Given the description of an element on the screen output the (x, y) to click on. 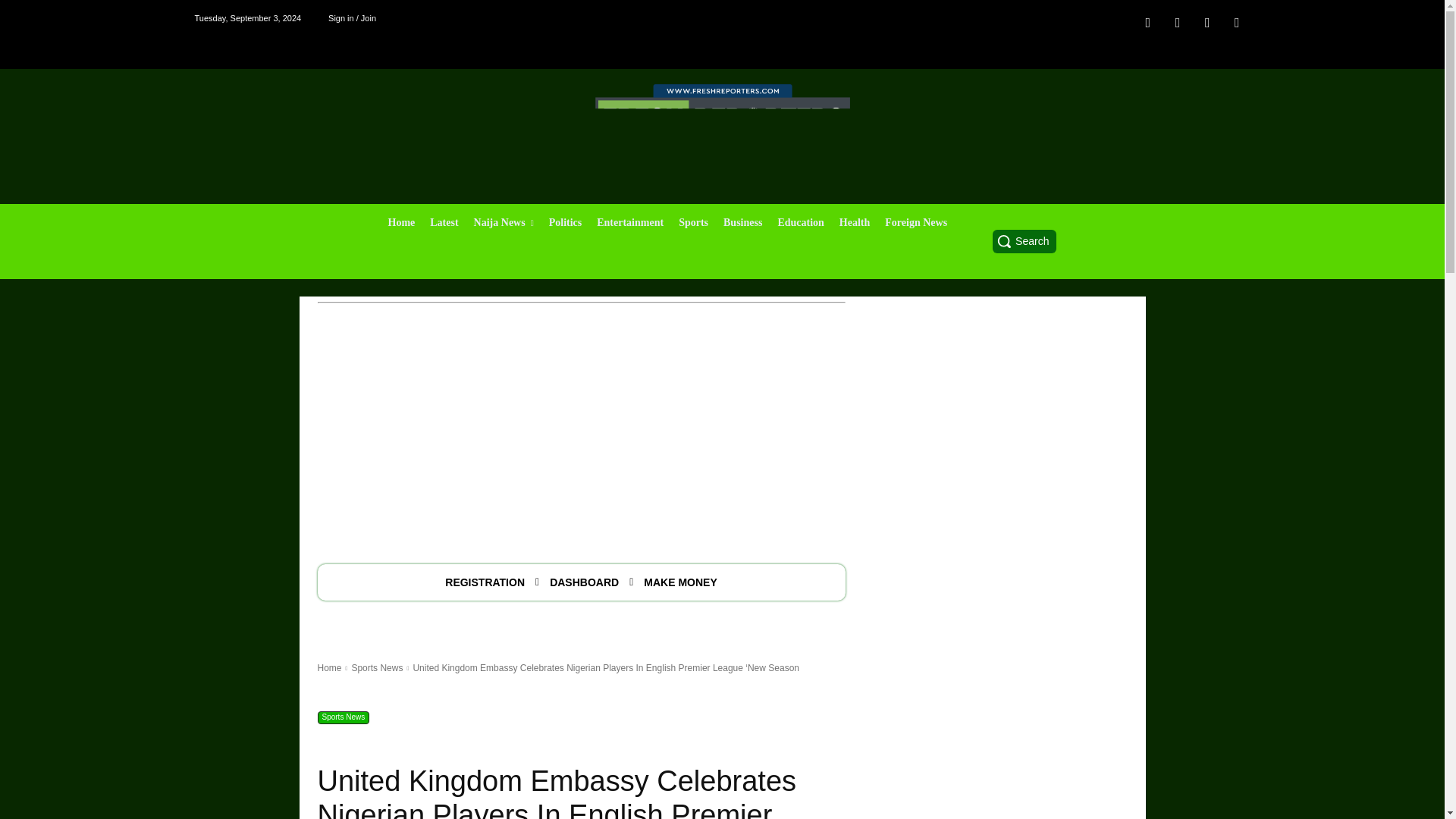
Home (401, 222)
Twitter (1236, 22)
Education (800, 222)
Business (743, 222)
Freshreporters-Logo-Latest-Naija-News-Today (721, 117)
Facebook (1147, 22)
Latest (443, 222)
Sports (693, 222)
Entertainment (630, 222)
Politics (565, 222)
